Given the description of an element on the screen output the (x, y) to click on. 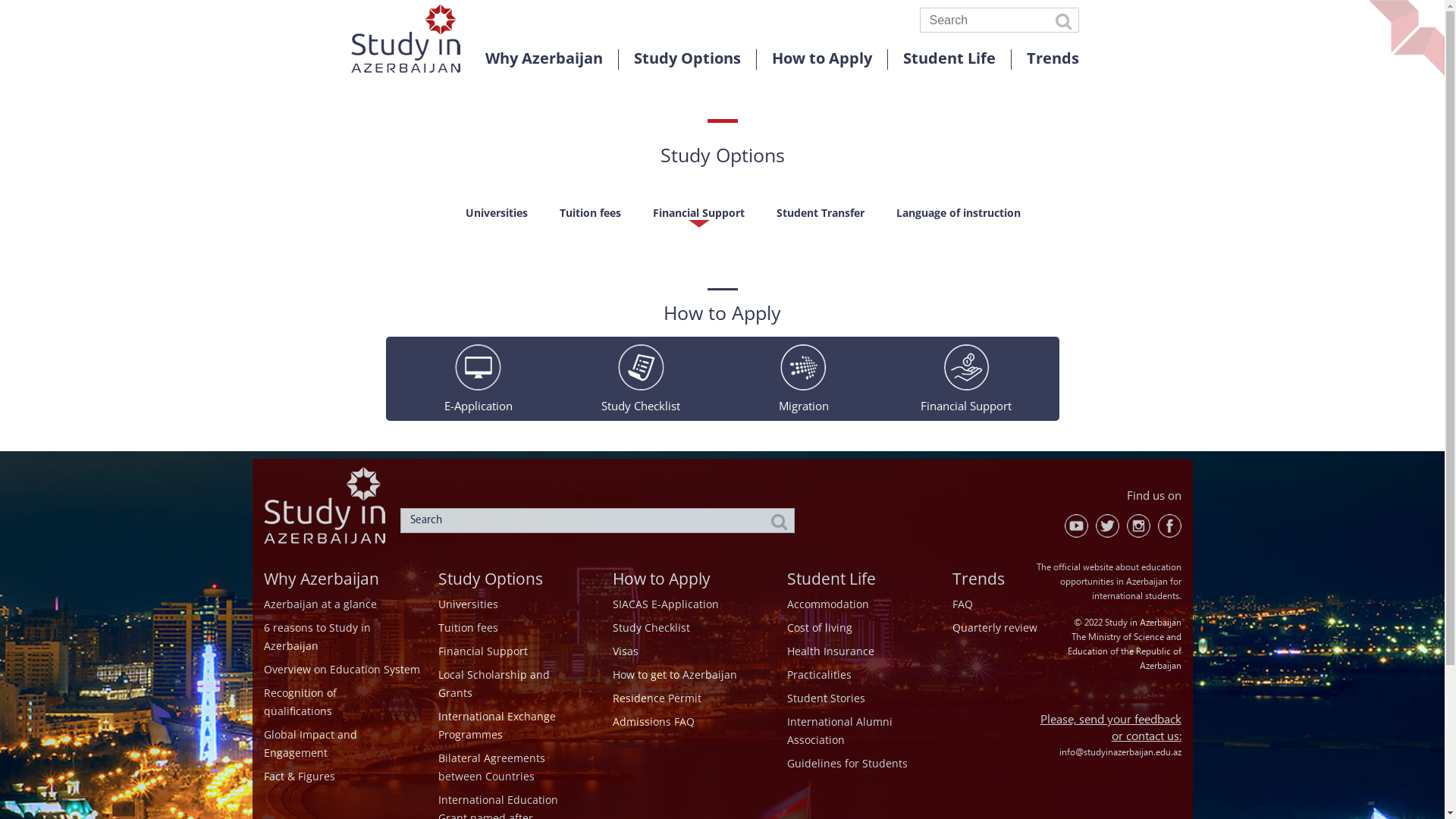
Study Options Element type: text (490, 578)
Admissions FAQ Element type: text (653, 721)
How to Apply Element type: text (661, 578)
Trends Element type: text (1052, 57)
SIACAS E-Application Element type: text (665, 603)
How to get to Azerbaijan Element type: text (674, 674)
Practicalities Element type: text (819, 674)
Trends Element type: text (978, 578)
Study Checklist Element type: text (641, 367)
Cost of living Element type: text (819, 627)
Quarterly review Element type: text (994, 627)
Student Stories Element type: text (826, 697)
Guidelines for Students Element type: text (847, 763)
Financial Support Element type: text (698, 216)
International Alumni Association Element type: text (839, 730)
Overview on Education System Element type: text (341, 669)
Financial Support Element type: text (482, 650)
Residence Permit Element type: text (656, 697)
Student Life Element type: text (948, 57)
Please, send your feedback or contact us Element type: text (1110, 727)
Study Options Element type: text (686, 57)
Recognition of qualifications Element type: text (299, 701)
Why Azerbaijan Element type: text (543, 57)
Tuition fees Element type: text (590, 216)
Bilateral Agreements between Countries Element type: text (491, 766)
Universities Element type: text (496, 216)
E-Application Element type: text (477, 367)
How to Apply Element type: text (821, 57)
Fact & Figures Element type: text (299, 775)
Language of instruction Element type: text (958, 216)
International Exchange Programmes Element type: text (496, 725)
Student Transfer Element type: text (820, 216)
Study in Azerbaijan Element type: hover (404, 69)
6 reasons to Study in Azerbaijan Element type: text (316, 636)
Migration Element type: text (804, 367)
FAQ Element type: text (962, 603)
Tuition fees Element type: text (468, 627)
Why Azerbaijan Element type: text (321, 578)
Universities Element type: text (468, 603)
Health Insurance Element type: text (830, 650)
Local Scholarship and Grants Element type: text (493, 683)
Study Checklist Element type: text (651, 627)
Global Impact and Engagement Element type: text (310, 743)
Azerbaijan at a glance Element type: text (319, 603)
Financial Support Element type: text (966, 367)
Accommodation Element type: text (828, 603)
Visas Element type: text (625, 650)
Student Life Element type: text (831, 578)
: Element type: text (1179, 736)
